Given the description of an element on the screen output the (x, y) to click on. 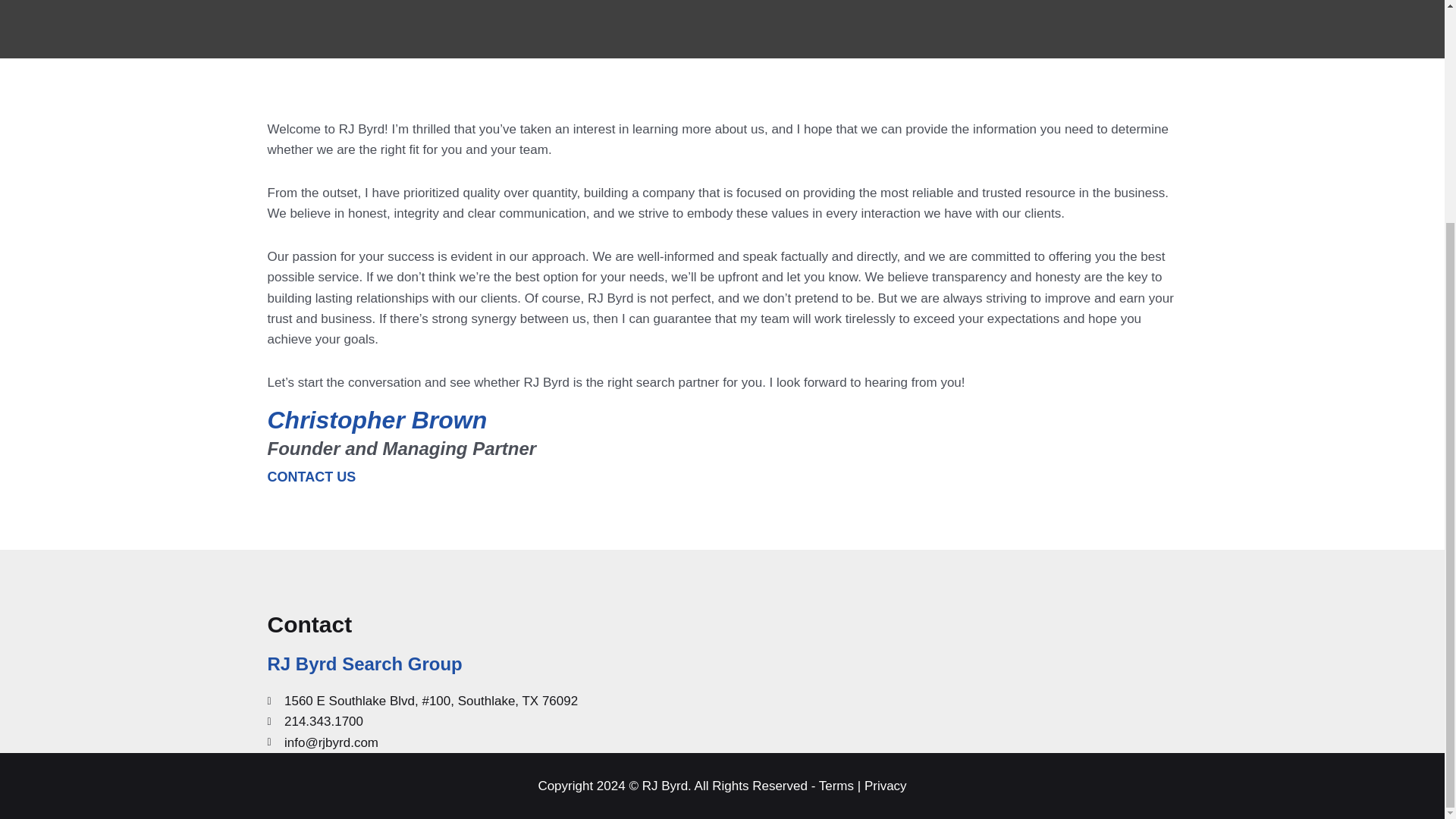
Terms (835, 785)
CONTACT US (322, 479)
Privacy (885, 785)
214.343.1700 (443, 721)
Contact (309, 624)
